Given the description of an element on the screen output the (x, y) to click on. 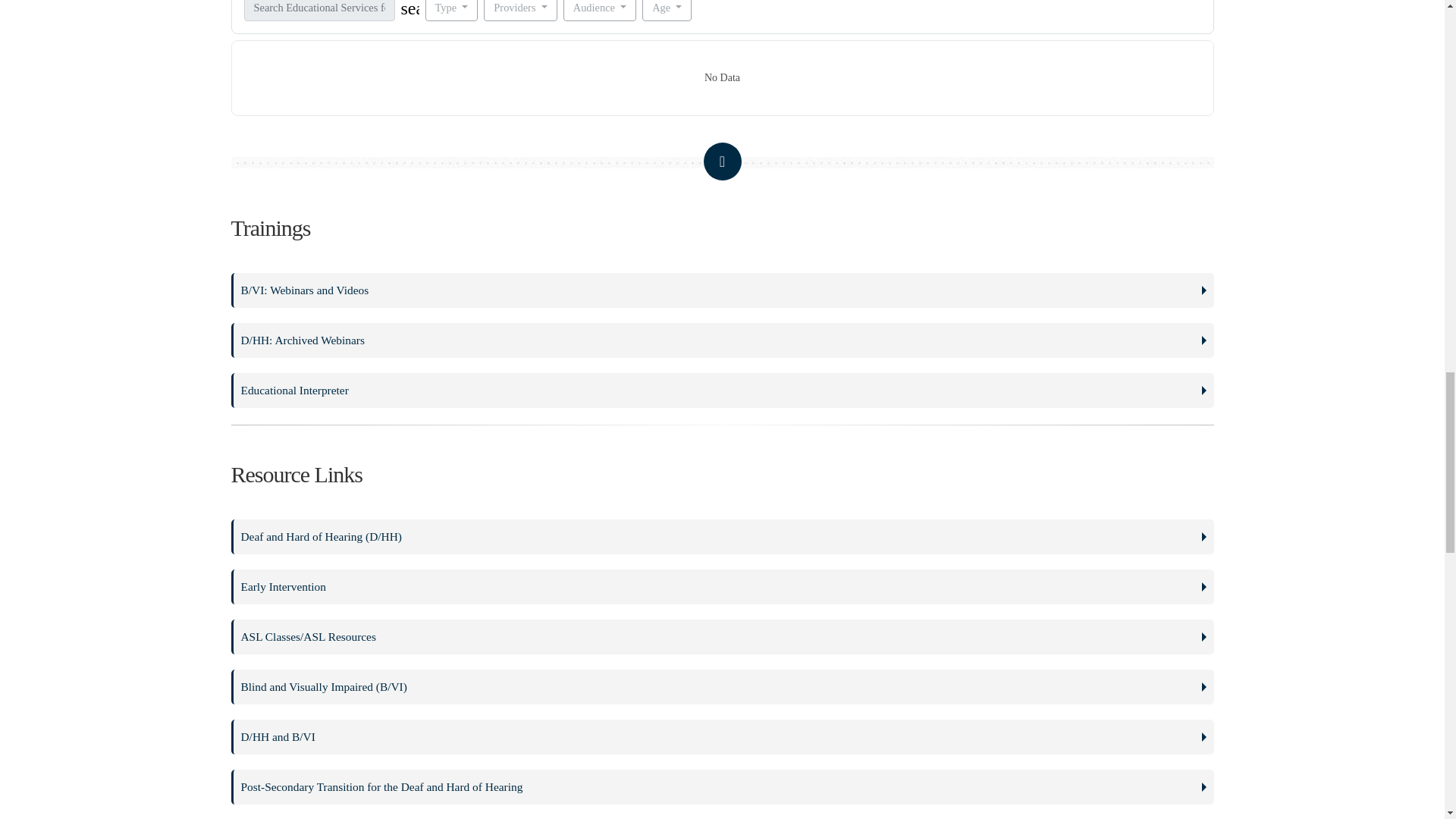
Providers (519, 11)
Audience (599, 11)
Type (451, 11)
Age (666, 11)
